Given the description of an element on the screen output the (x, y) to click on. 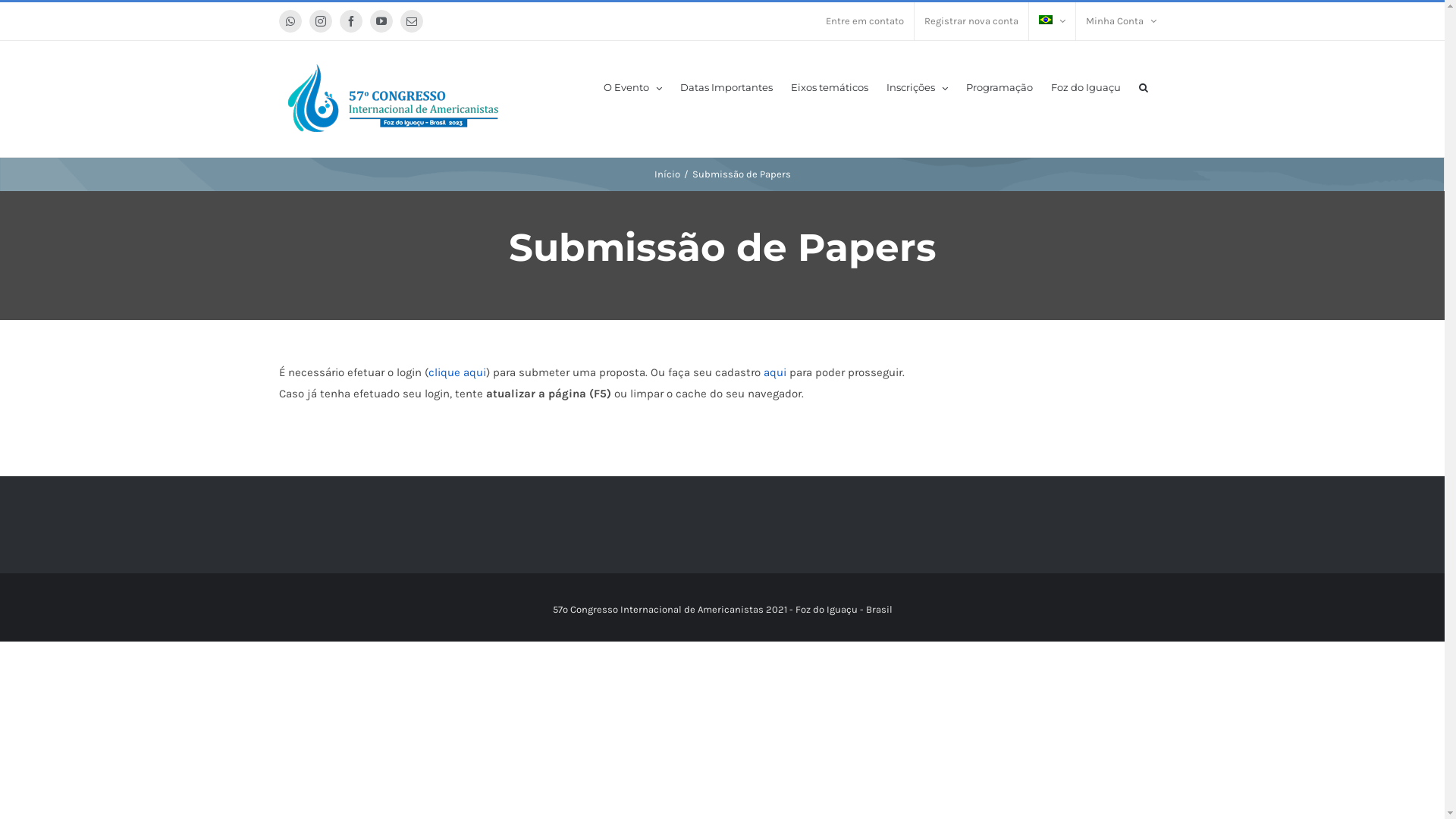
Pesquisar Element type: hover (1143, 85)
Datas Importantes Element type: text (725, 85)
O Evento Element type: text (632, 85)
Minha Conta Element type: text (1120, 21)
Registrar nova conta Element type: text (971, 21)
Entre em contato Element type: text (864, 21)
Entrar Element type: text (1176, 165)
YouTube Element type: text (381, 20)
aqui Element type: text (773, 372)
E-mail Element type: text (411, 20)
WhatsApp Element type: text (290, 20)
clique aqui Element type: text (456, 372)
Facebook Element type: text (350, 20)
Instagram Element type: text (320, 20)
